Given the description of an element on the screen output the (x, y) to click on. 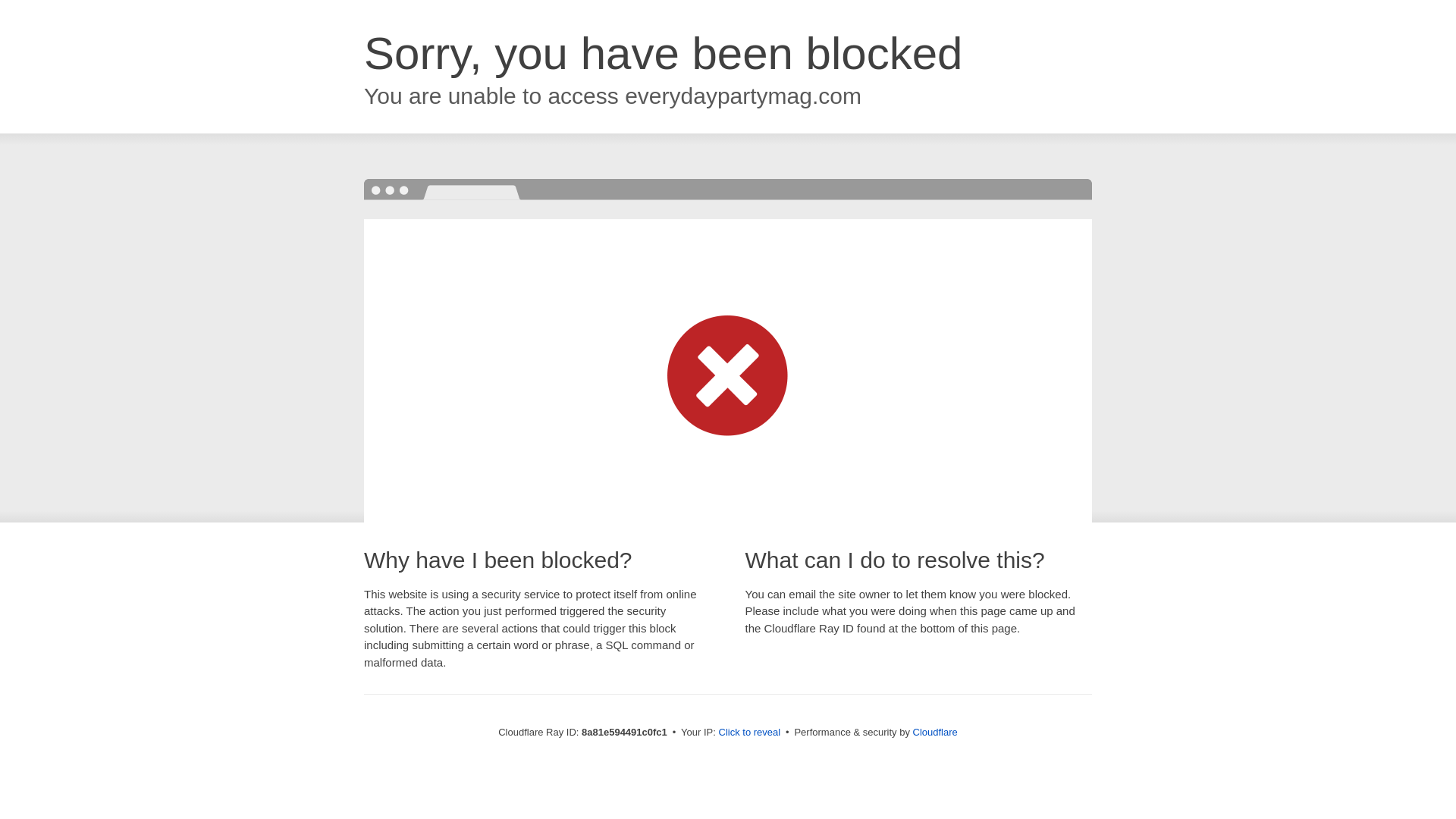
Click to reveal (749, 732)
Cloudflare (935, 731)
